Given the description of an element on the screen output the (x, y) to click on. 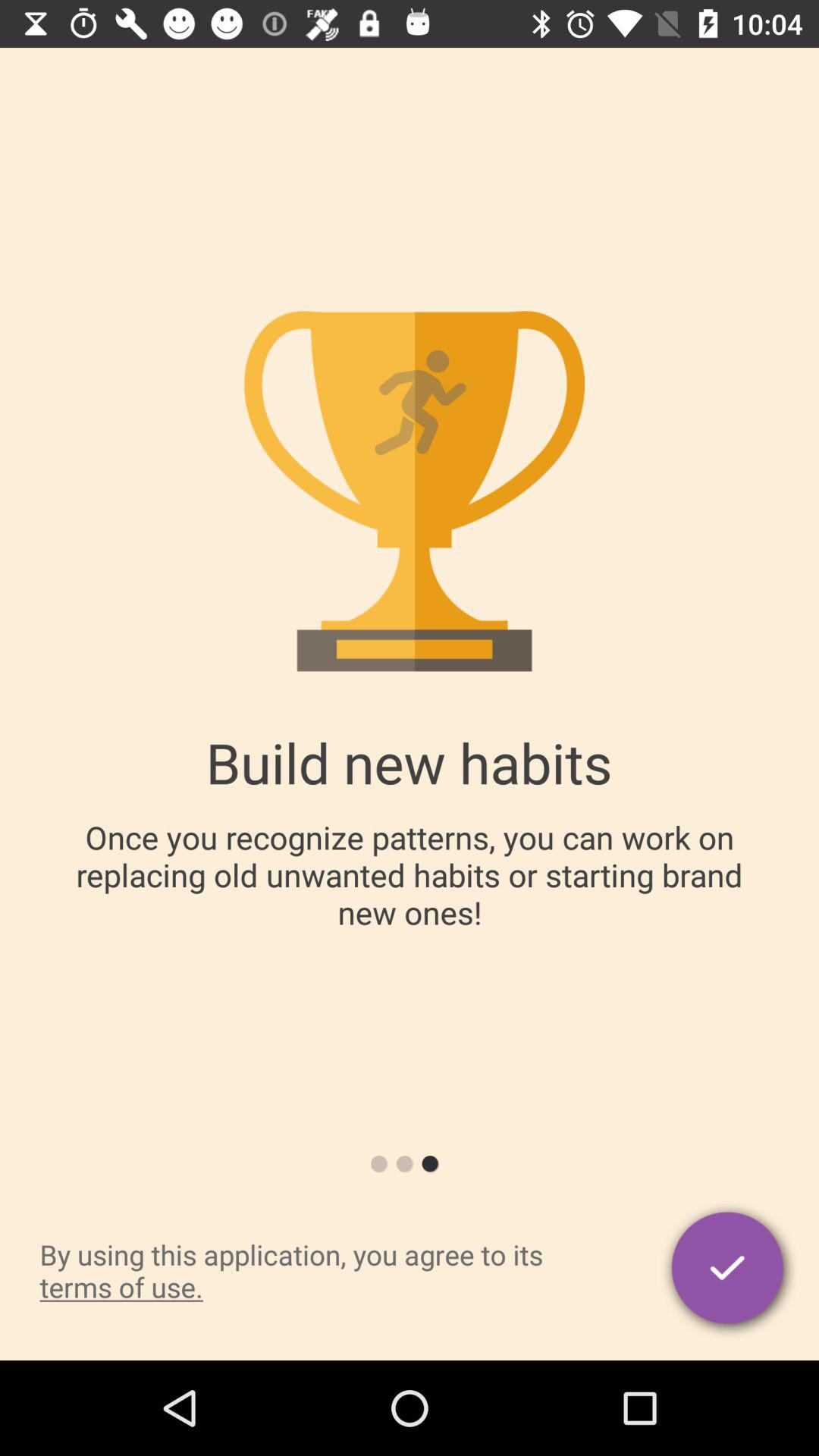
turn off icon below the once you recognize icon (729, 1270)
